Given the description of an element on the screen output the (x, y) to click on. 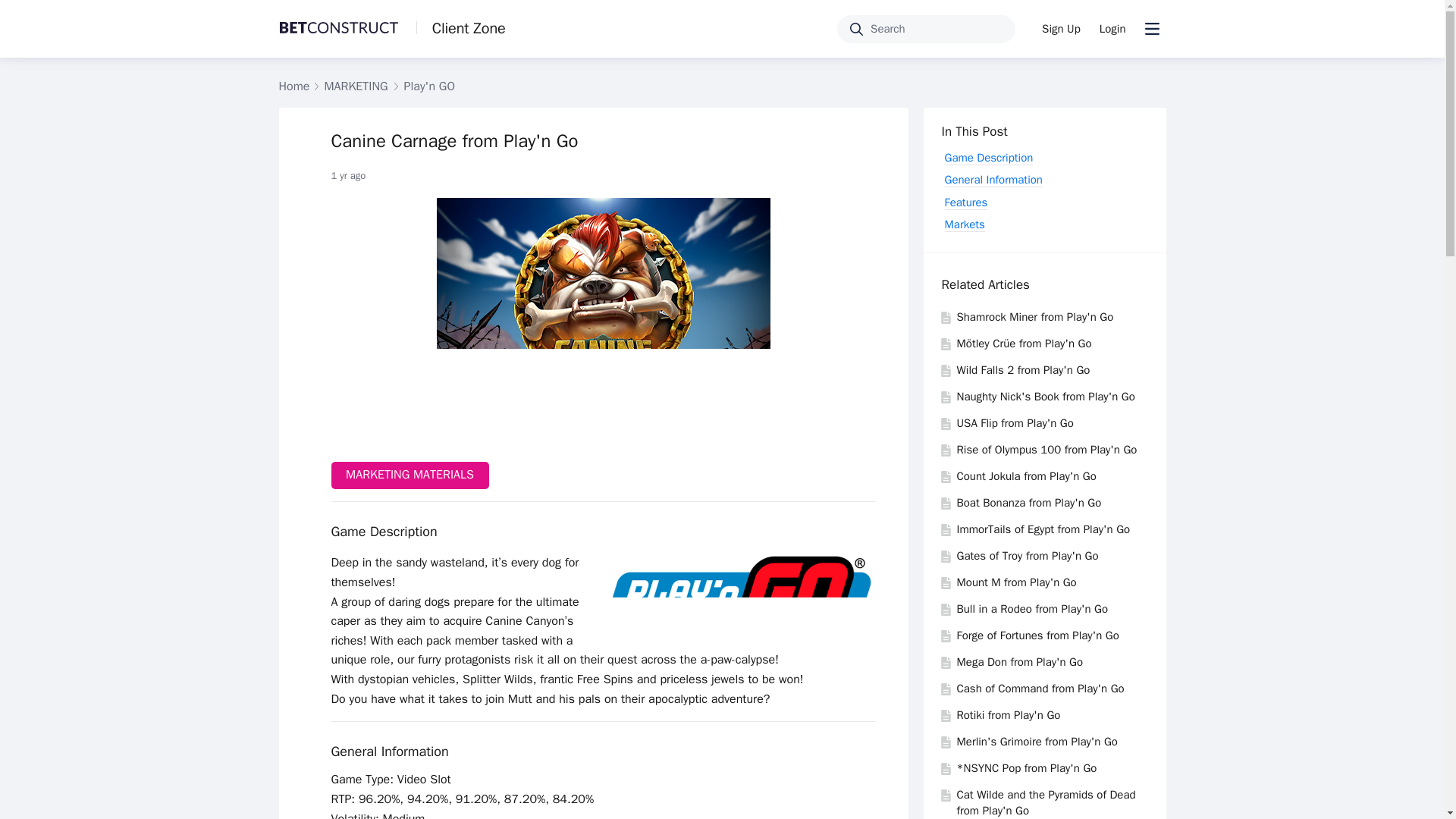
Home (294, 85)
  MARKETING MATERIALS   (408, 474)
Game Description (383, 531)
Client Zone (460, 28)
Boat Bonanza from Play'n Go (1029, 502)
Sign Up (1060, 28)
Game Description (988, 157)
Rise of Olympus 100 from Play'n Go (1046, 449)
Features (966, 202)
Merlin's Grimoire from Play'n Go (1037, 741)
